Given the description of an element on the screen output the (x, y) to click on. 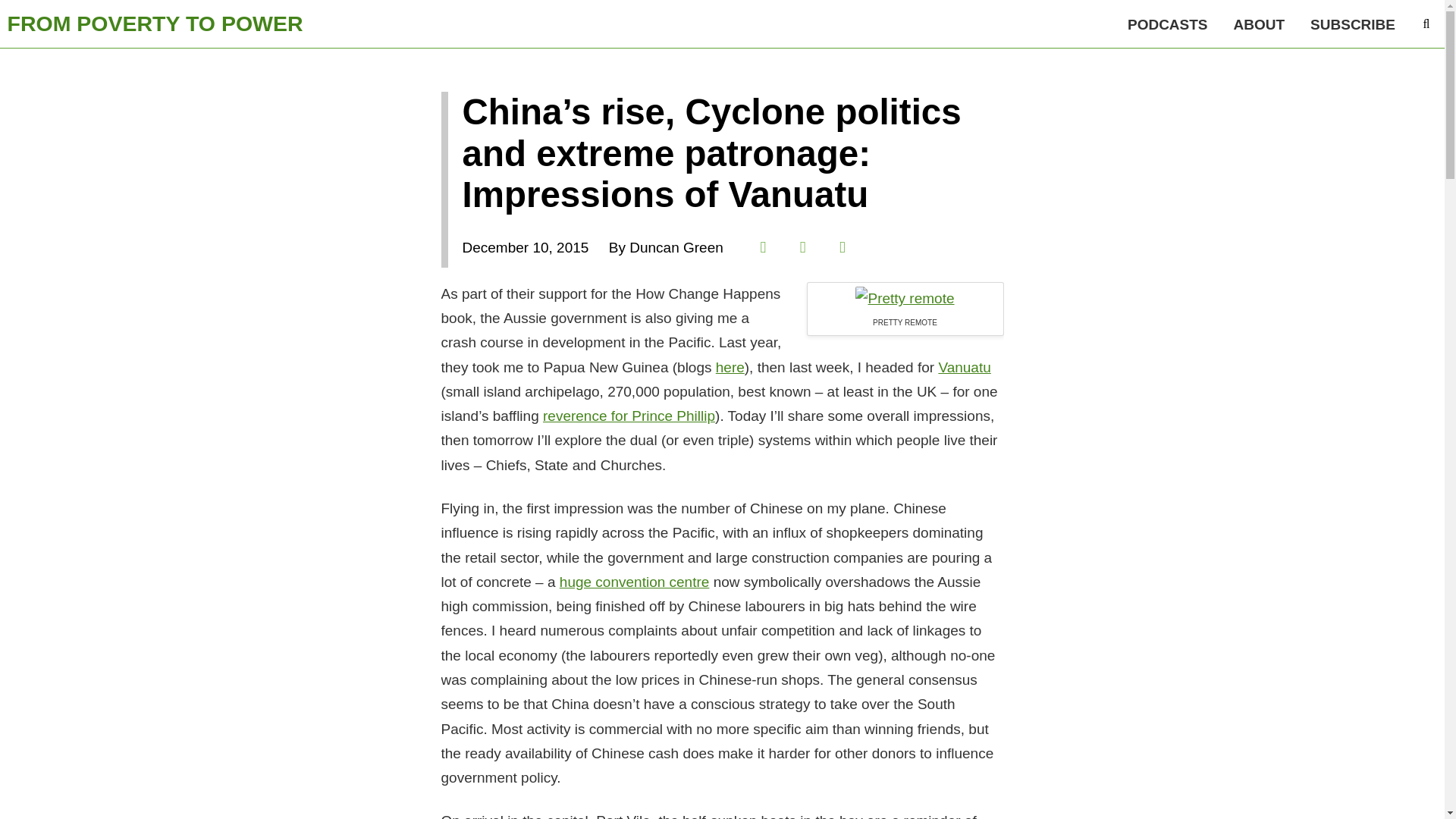
here (730, 367)
huge convention centre (634, 581)
ABOUT (1259, 24)
Vanuatu (904, 298)
SUBSCRIBE (1352, 24)
Vanuatu (963, 367)
reverence for Prince Phillip (628, 415)
FROM POVERTY TO POWER (154, 23)
PODCASTS (1168, 24)
